Given the description of an element on the screen output the (x, y) to click on. 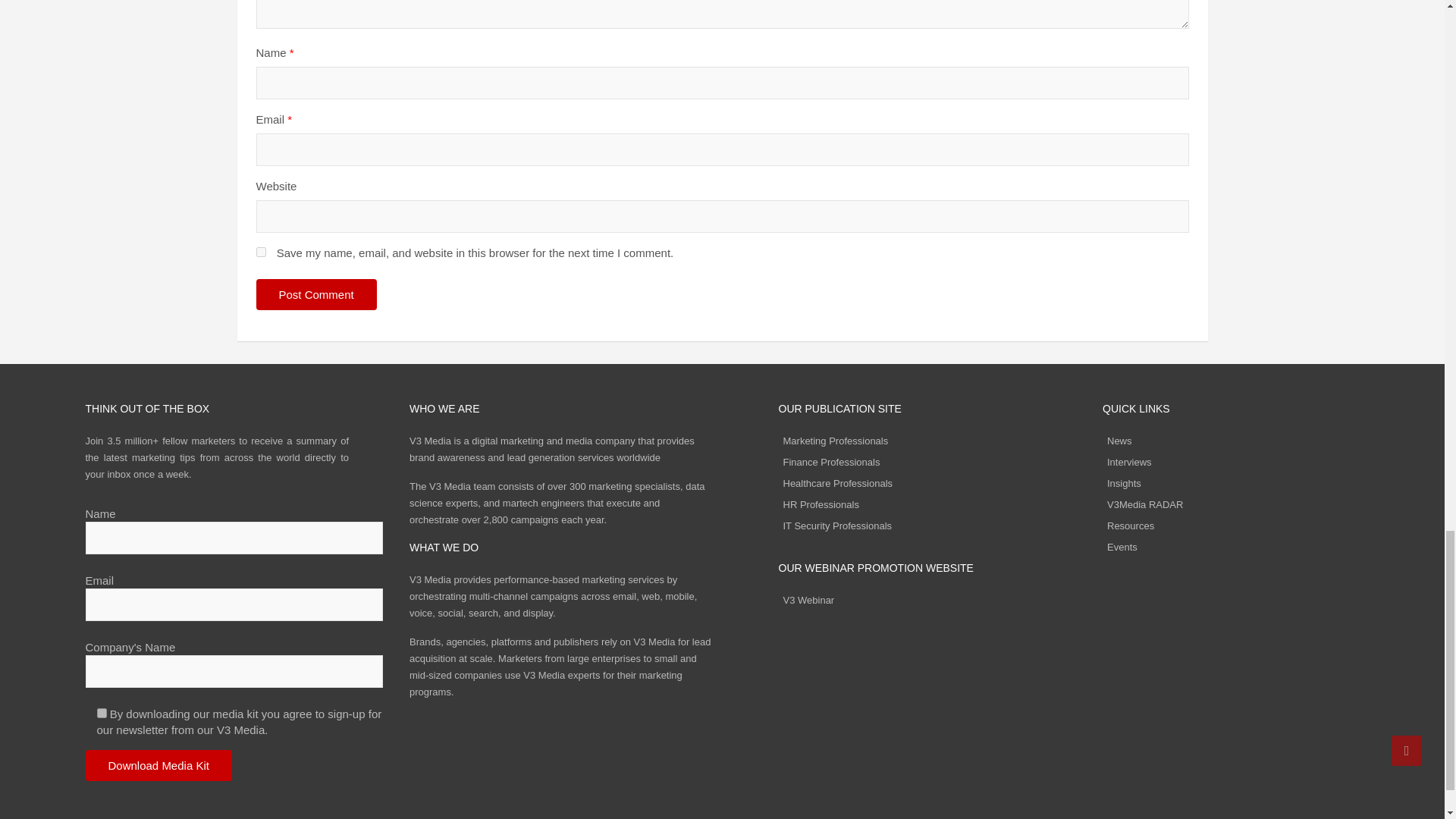
Post Comment (316, 294)
HR Professionals (821, 504)
Marketing Professionals (835, 440)
Finance Professionals (831, 461)
Download Media Kit (157, 765)
Post Comment (316, 294)
yes (261, 252)
Download Media Kit (157, 765)
Healthcare Professionals (837, 482)
